Given the description of an element on the screen output the (x, y) to click on. 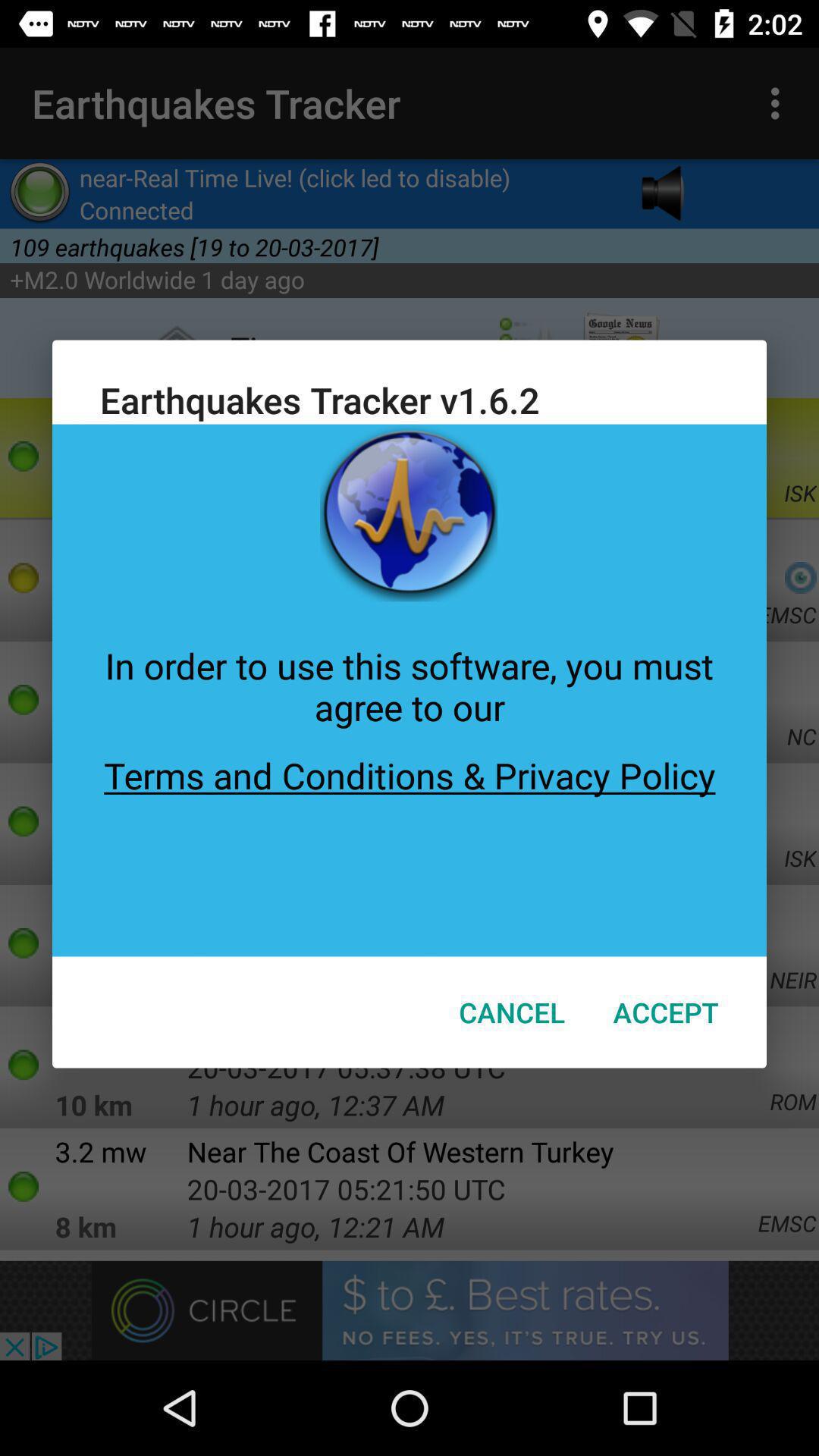
swipe to accept item (665, 1012)
